Given the description of an element on the screen output the (x, y) to click on. 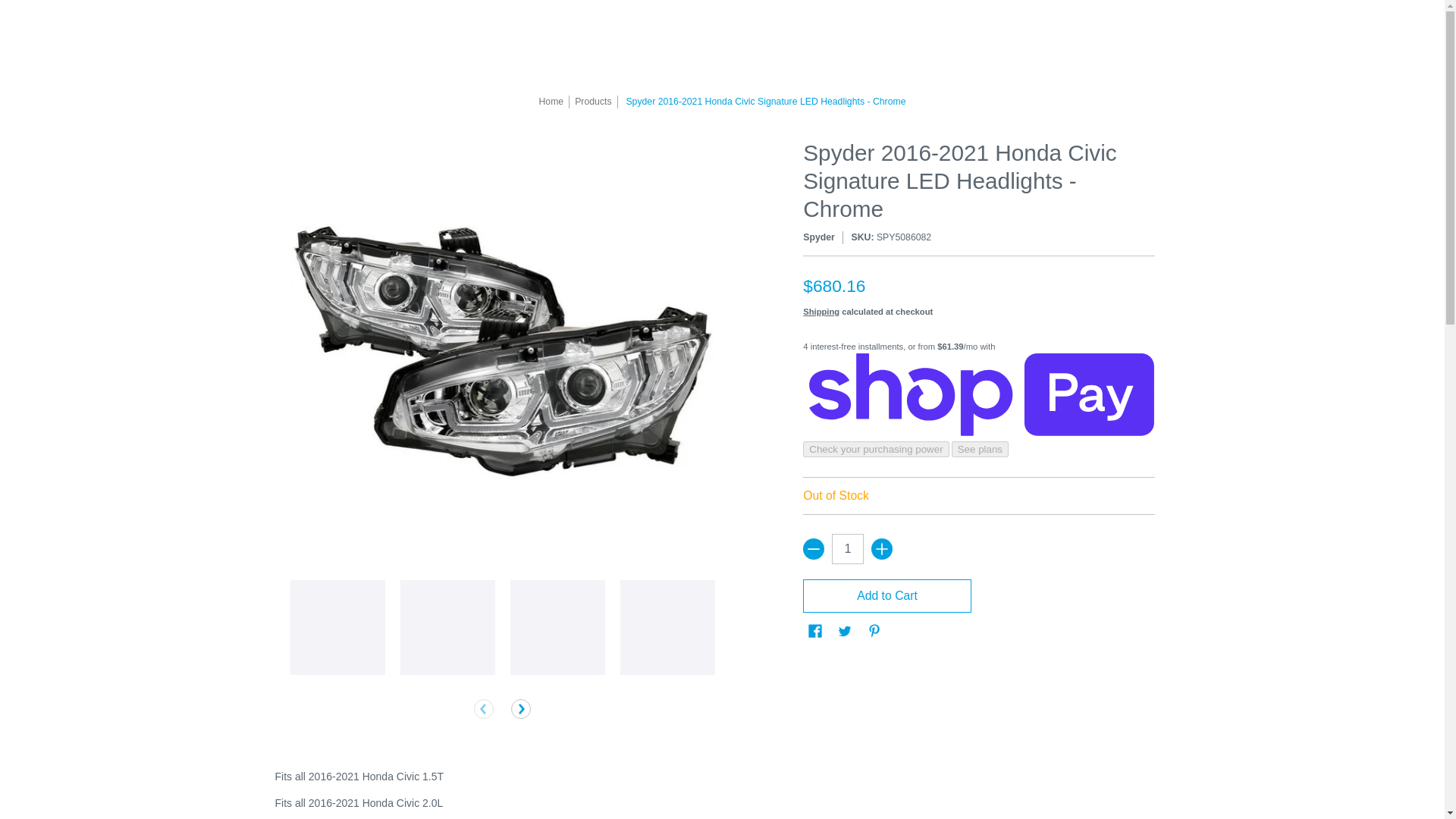
1 (847, 548)
